Given the description of an element on the screen output the (x, y) to click on. 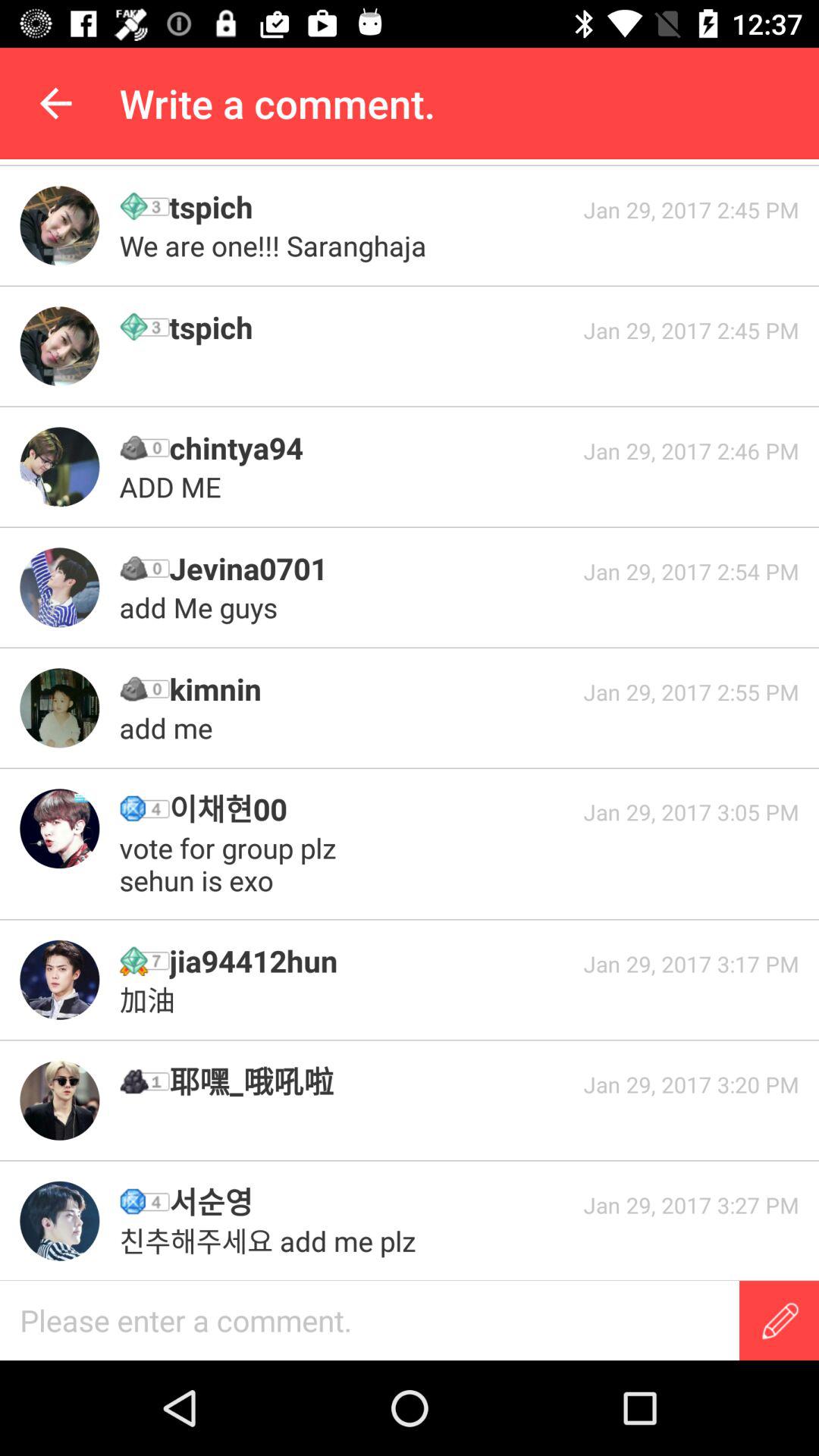
open his profile (59, 707)
